Given the description of an element on the screen output the (x, y) to click on. 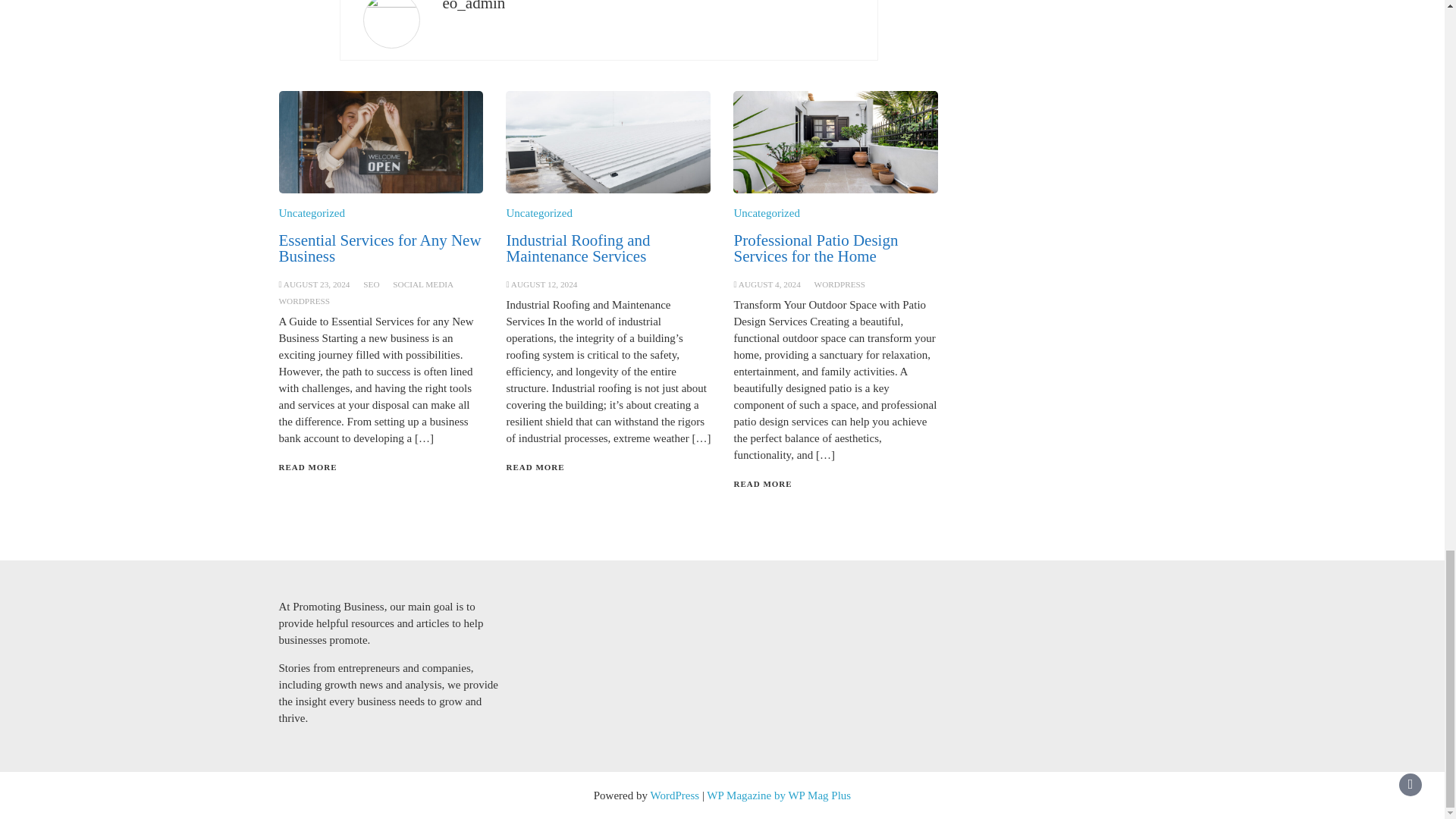
SOCIAL MEDIA (422, 284)
WP Magazine by WP Mag Plus (778, 795)
Uncategorized (766, 213)
WORDPRESS (304, 300)
WordPress (675, 795)
READ MORE (308, 466)
READ MORE (762, 483)
Industrial Roofing and Maintenance Services (577, 247)
WORDPRESS (839, 284)
Professional Patio Design Services for the Home (815, 247)
